Given the description of an element on the screen output the (x, y) to click on. 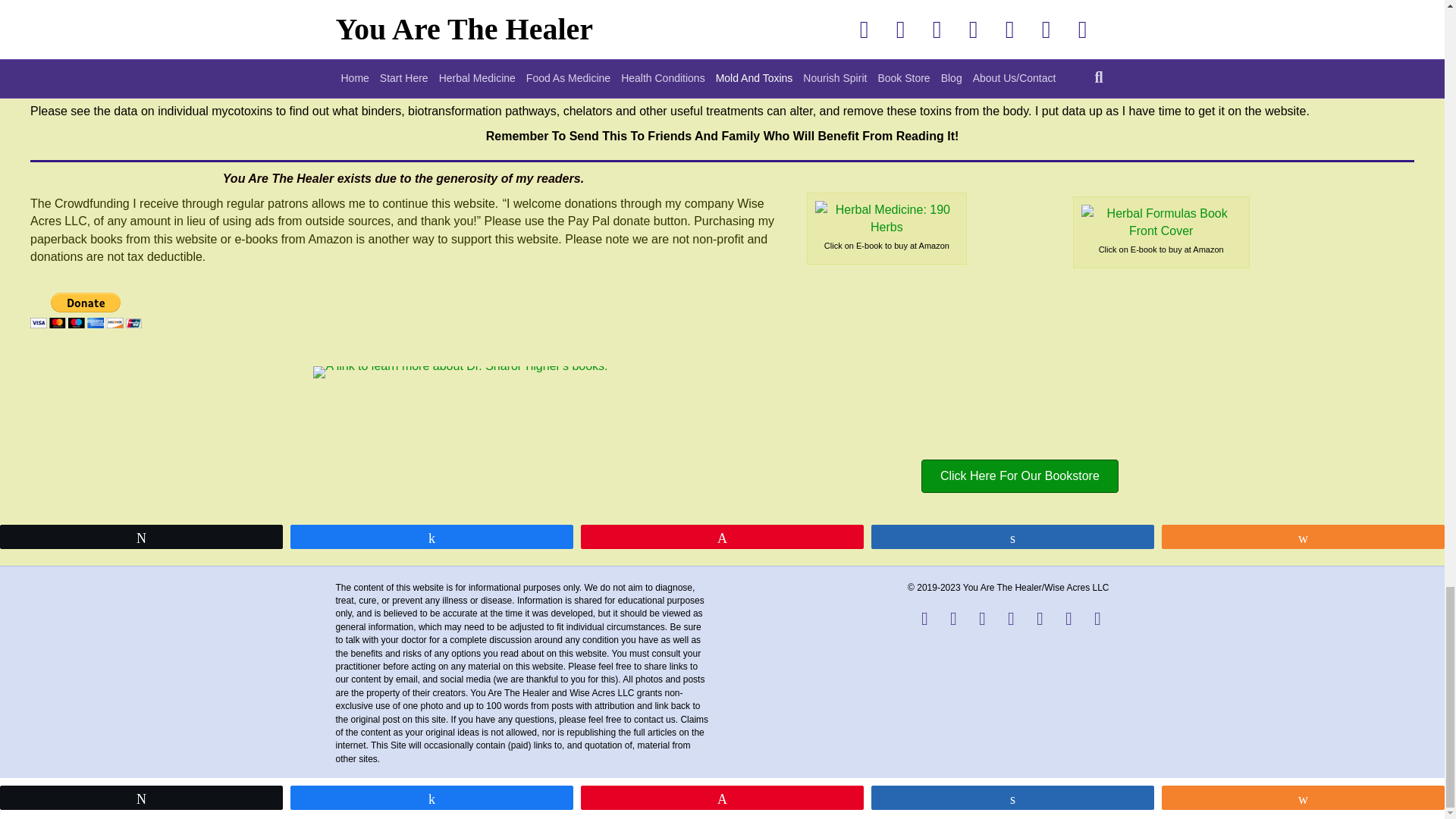
Dr. Sharol's Books (460, 372)
PayPal - The safer, easier way to pay online! (85, 310)
